Given the description of an element on the screen output the (x, y) to click on. 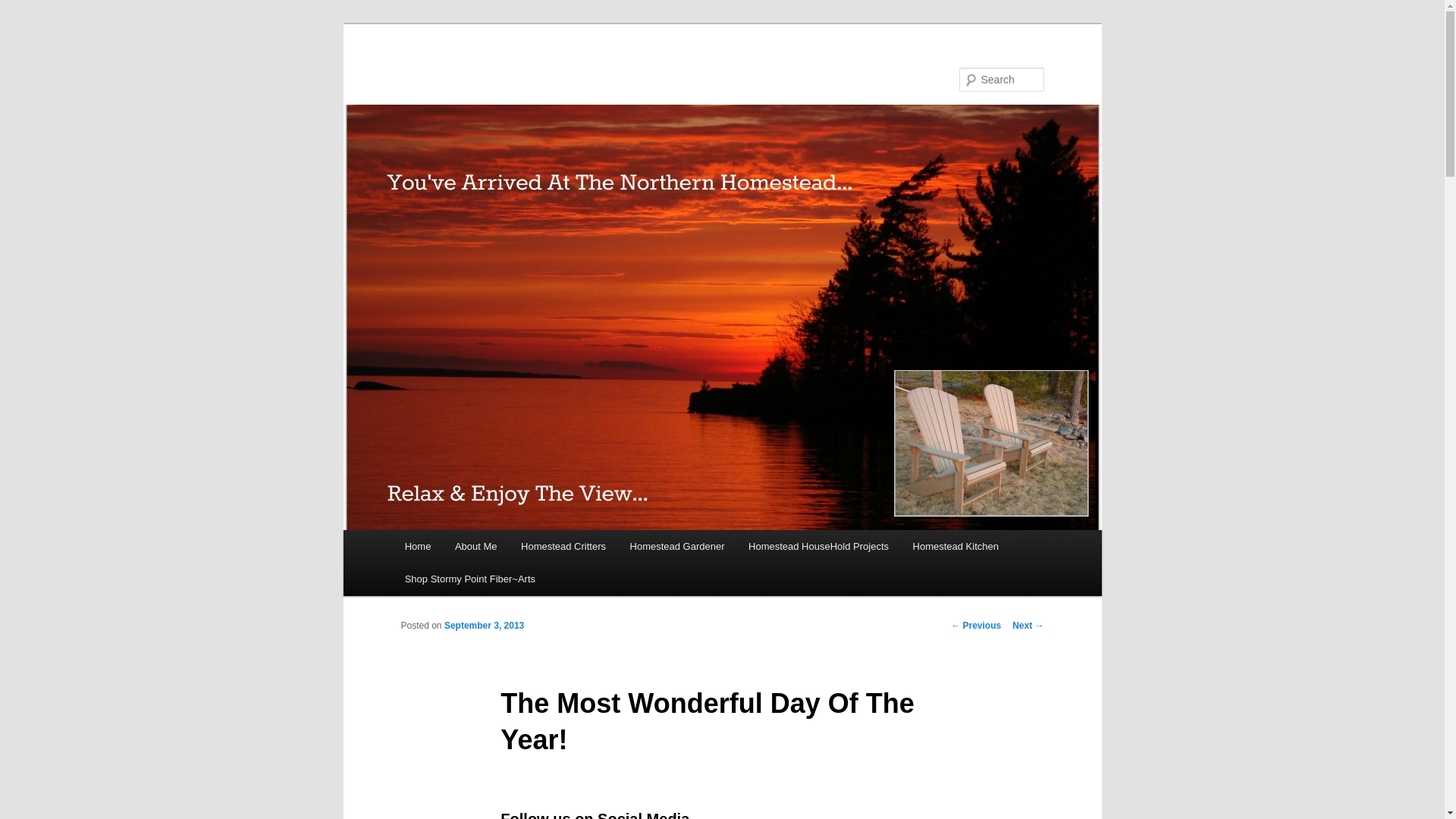
8:20 am (484, 624)
Homestead Gardener (676, 545)
Homestead Critters (562, 545)
Search (24, 8)
Homestead Kitchen (955, 545)
About Me (475, 545)
Homestead HouseHold Projects (817, 545)
Home (417, 545)
